Given the description of an element on the screen output the (x, y) to click on. 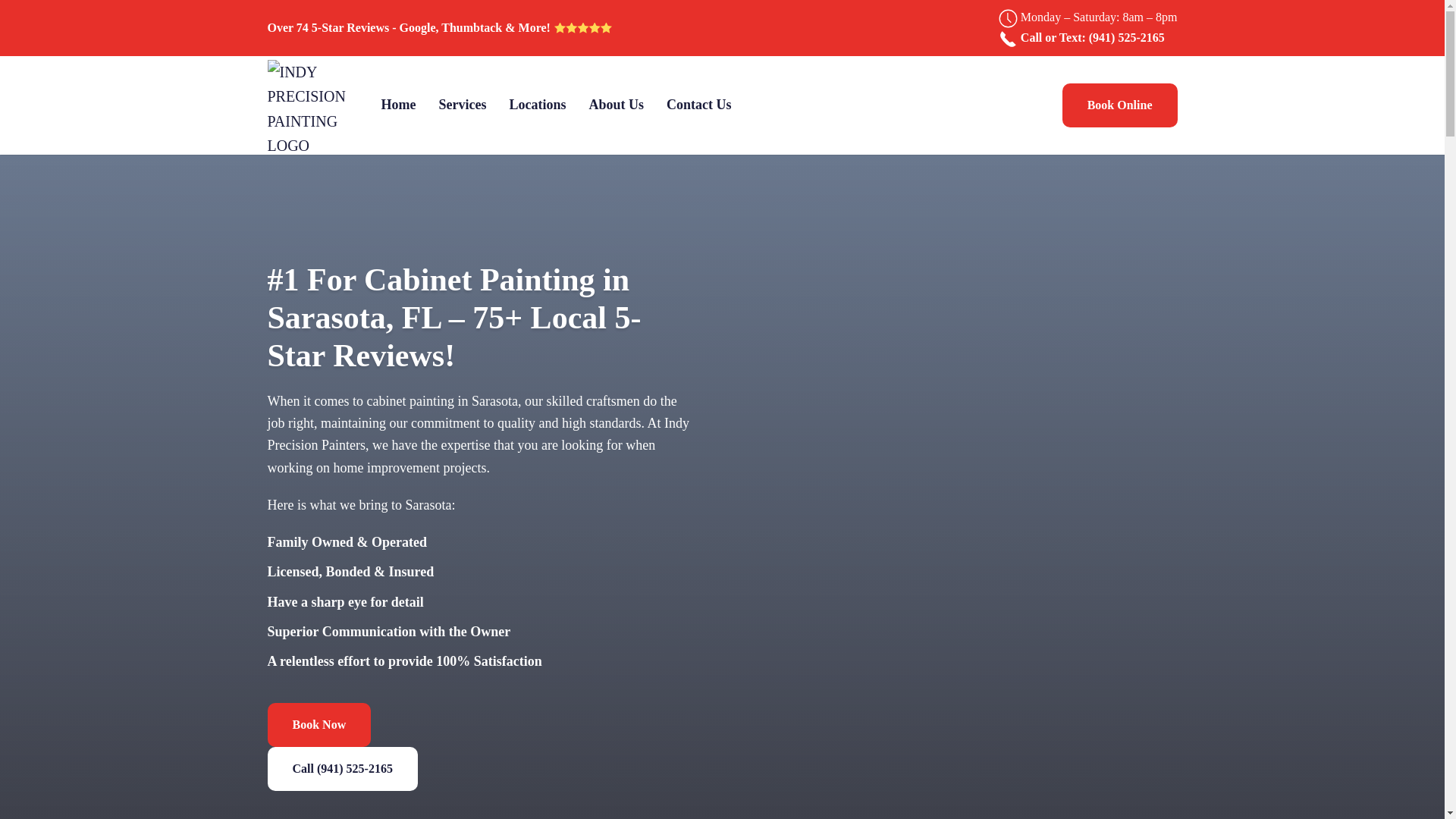
About Us (615, 105)
Locations (537, 105)
